Given the description of an element on the screen output the (x, y) to click on. 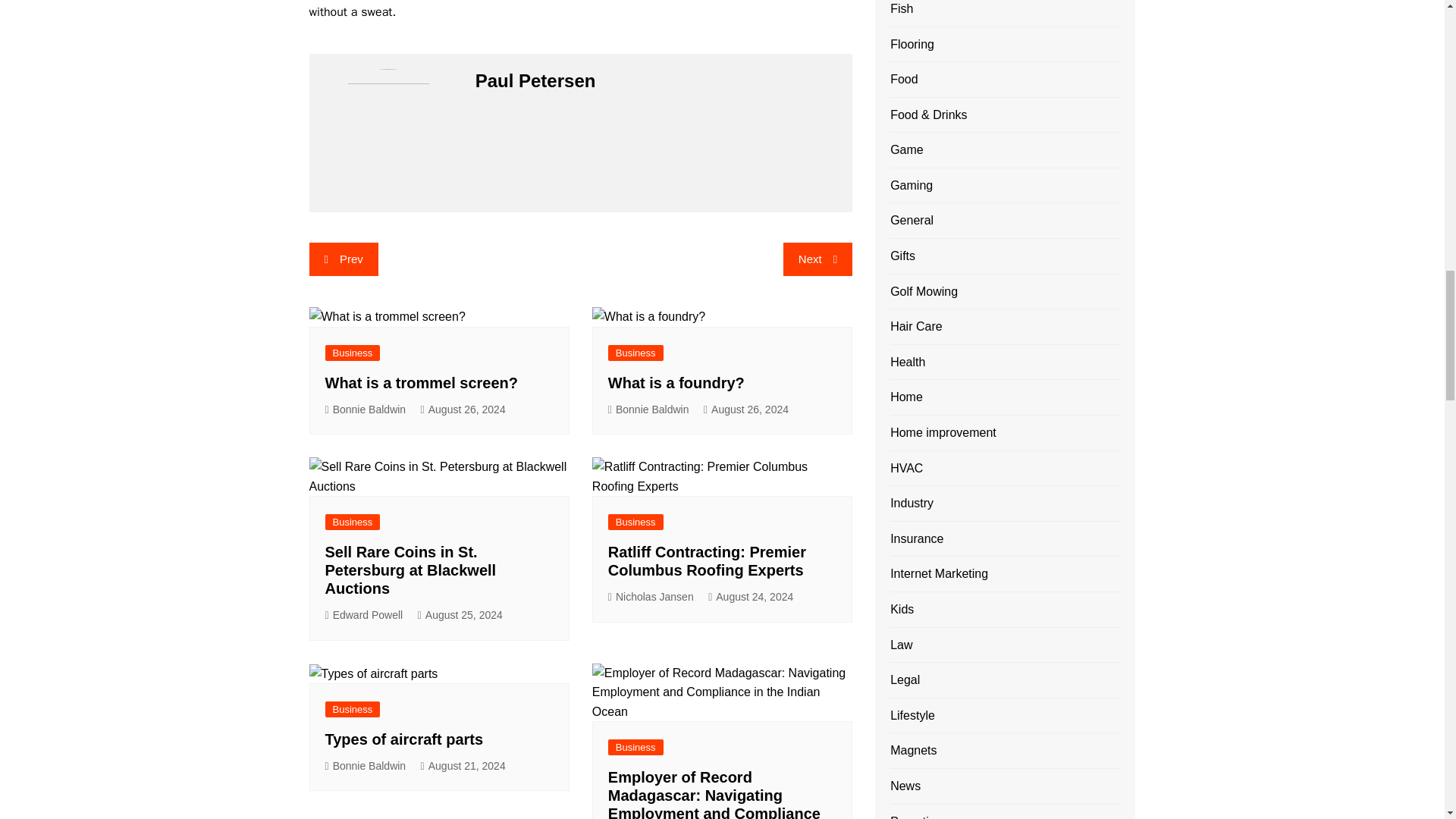
Next (817, 259)
Bonnie Baldwin (365, 409)
Business (352, 521)
Prev (343, 259)
Bonnie Baldwin (648, 409)
August 26, 2024 (746, 409)
What is a trommel screen?  (422, 382)
Business (635, 352)
What is a foundry?  (678, 382)
August 25, 2024 (459, 615)
